Given the description of an element on the screen output the (x, y) to click on. 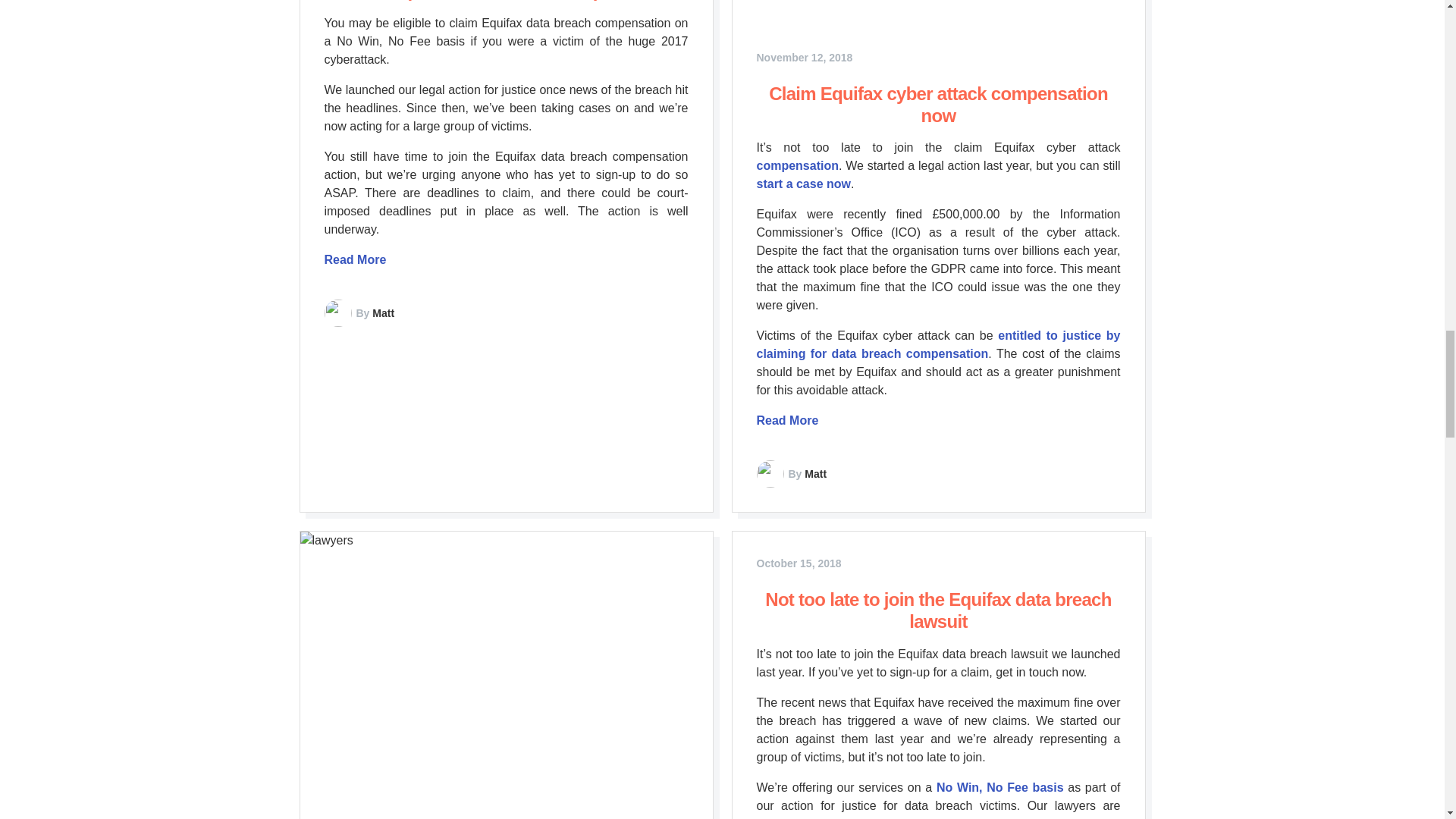
compensation (797, 164)
Read More (787, 420)
start a case now (804, 183)
entitled to justice by claiming for data breach compensation (939, 344)
Read More (355, 259)
Claim Equifax cyber attack compensation now (938, 104)
